Given the description of an element on the screen output the (x, y) to click on. 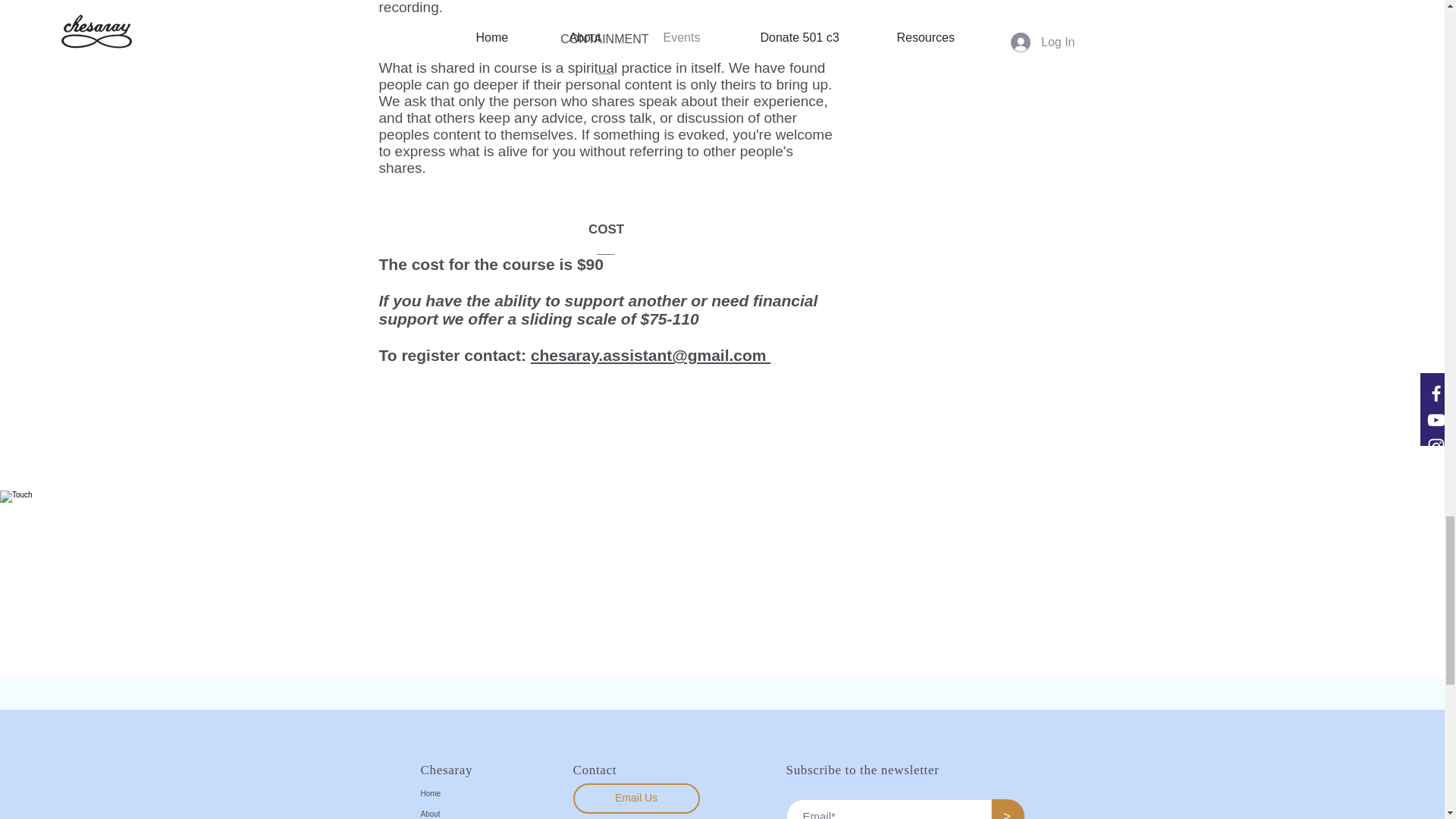
Email Us (636, 798)
Home (476, 792)
About (476, 811)
